Given the description of an element on the screen output the (x, y) to click on. 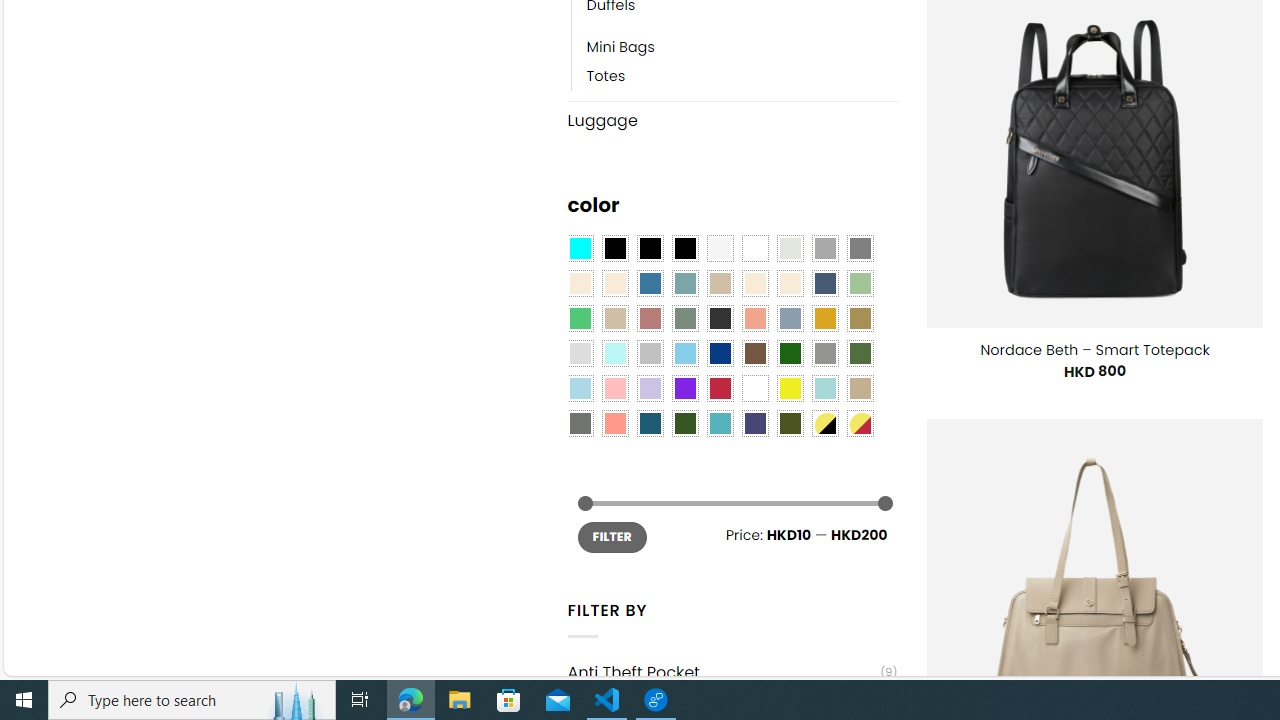
Anti Theft Pocket (723, 672)
Caramel (755, 283)
Totes (742, 76)
Teal (719, 424)
Pink (614, 388)
All Gray (859, 249)
Brownie (719, 283)
Light Green (859, 283)
Charcoal (719, 318)
Hale Navy (824, 283)
Beige (579, 283)
Clear (755, 249)
Khaki (859, 388)
Pearly White (719, 249)
White (755, 388)
